Given the description of an element on the screen output the (x, y) to click on. 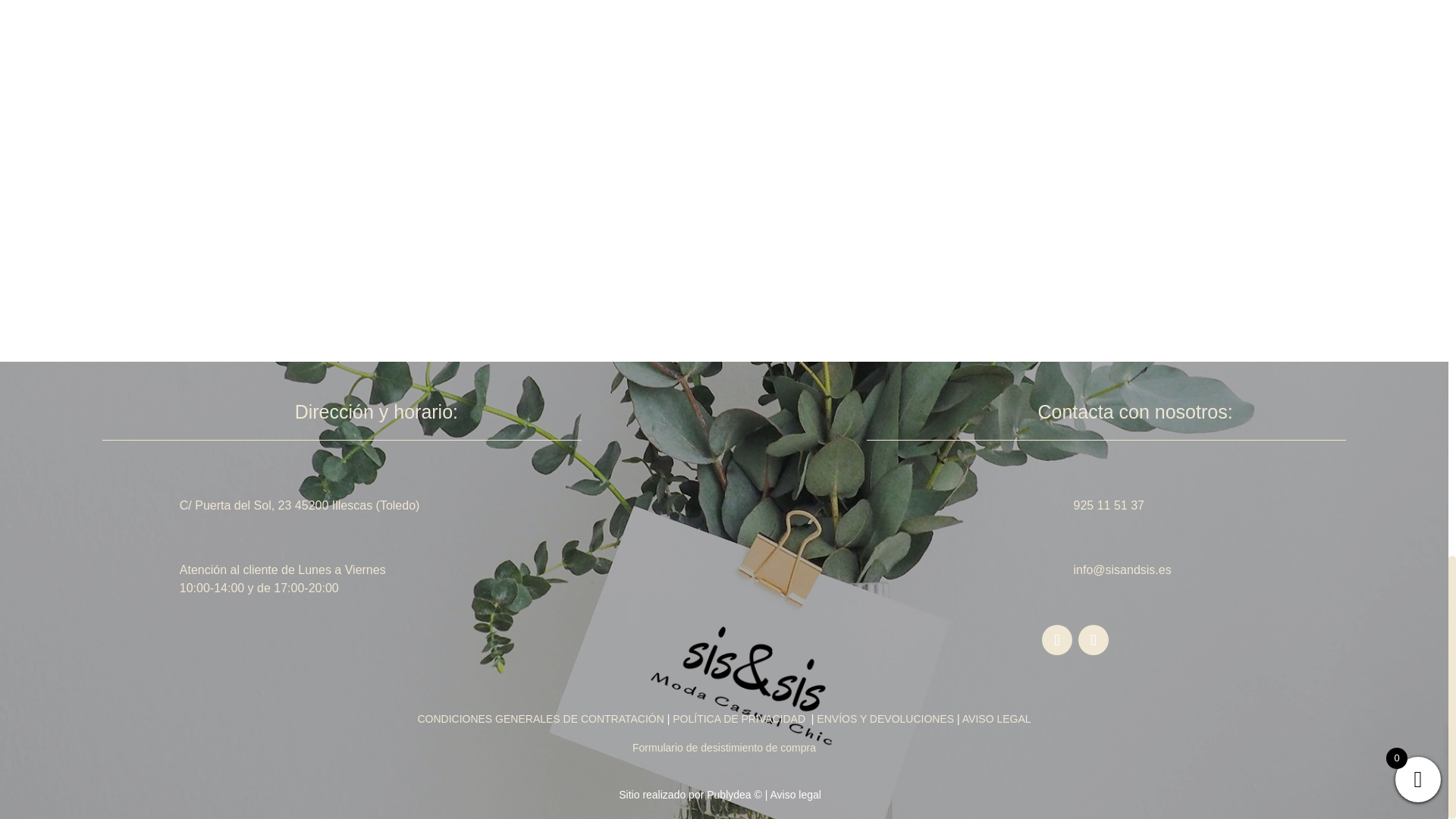
Seguir en Instagram (1093, 639)
Seguir en Facebook (1056, 639)
